Given the description of an element on the screen output the (x, y) to click on. 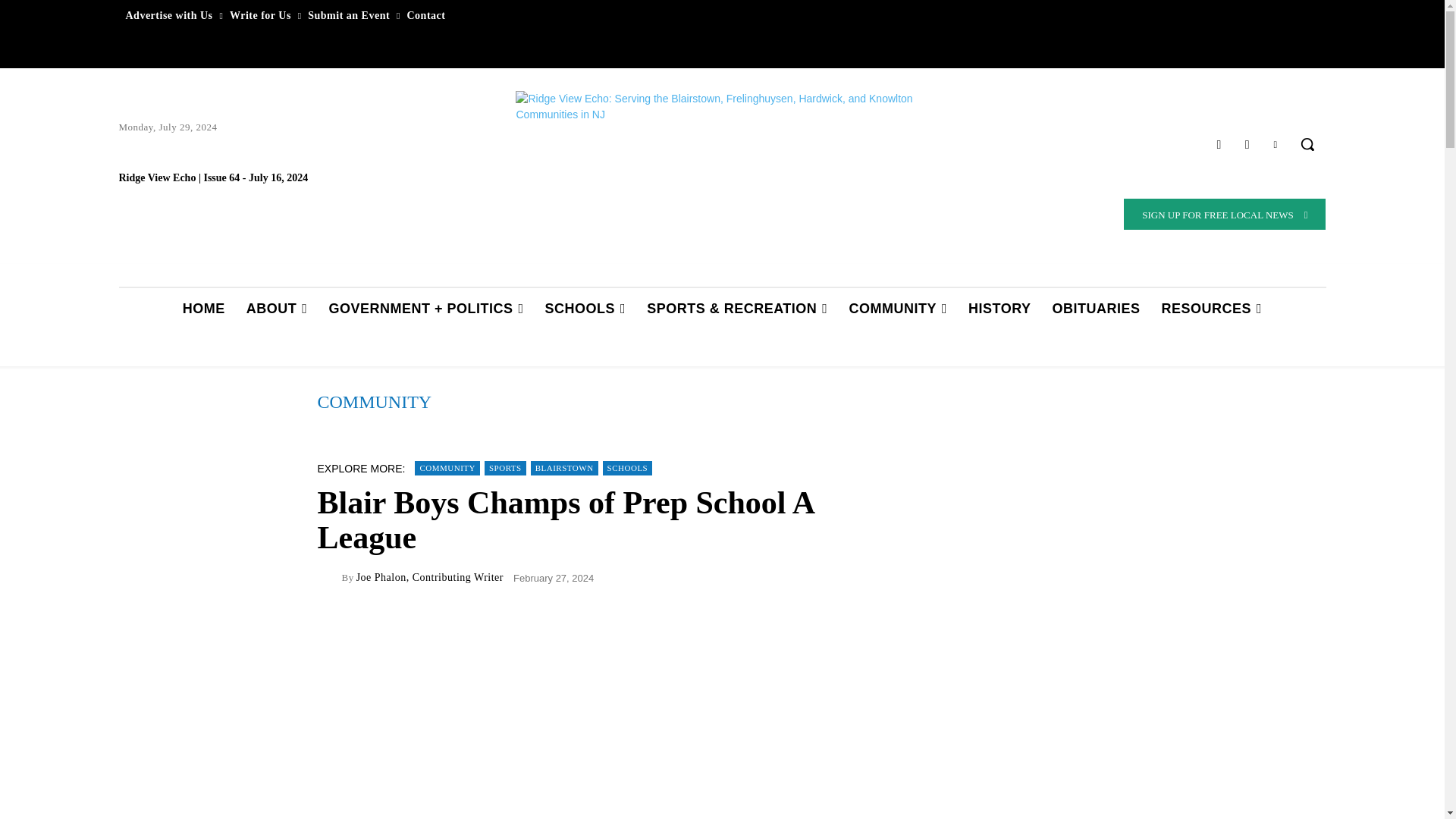
Linkedin (1275, 144)
Facebook (1218, 144)
Sign up for Free local news (1224, 214)
Instagram (1246, 144)
Joe Phalon, Contributing Writer (328, 578)
